Given the description of an element on the screen output the (x, y) to click on. 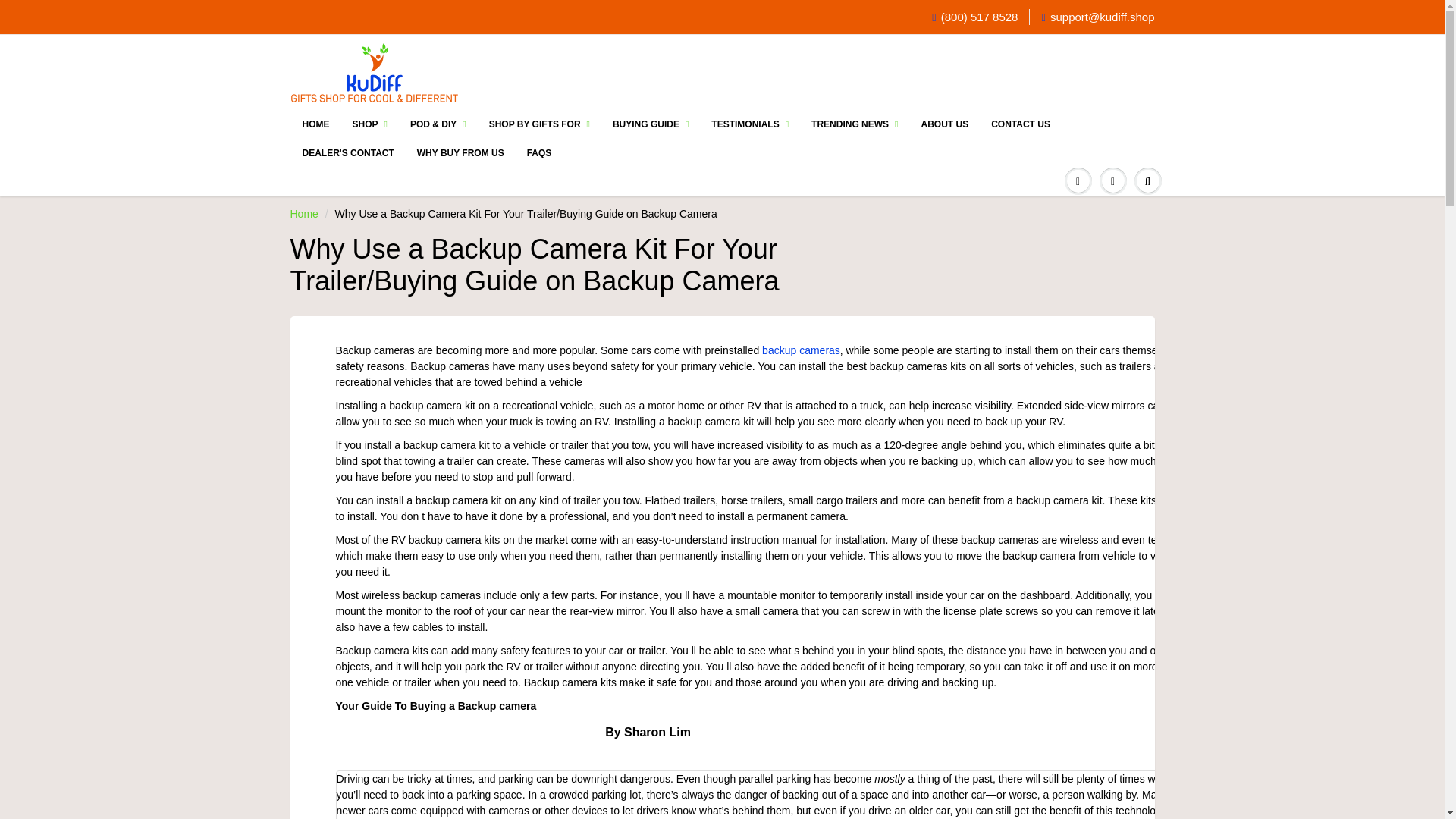
Home (303, 214)
SHOP (369, 123)
HOME (315, 123)
SHOP BY GIFTS FOR (539, 123)
